Given the description of an element on the screen output the (x, y) to click on. 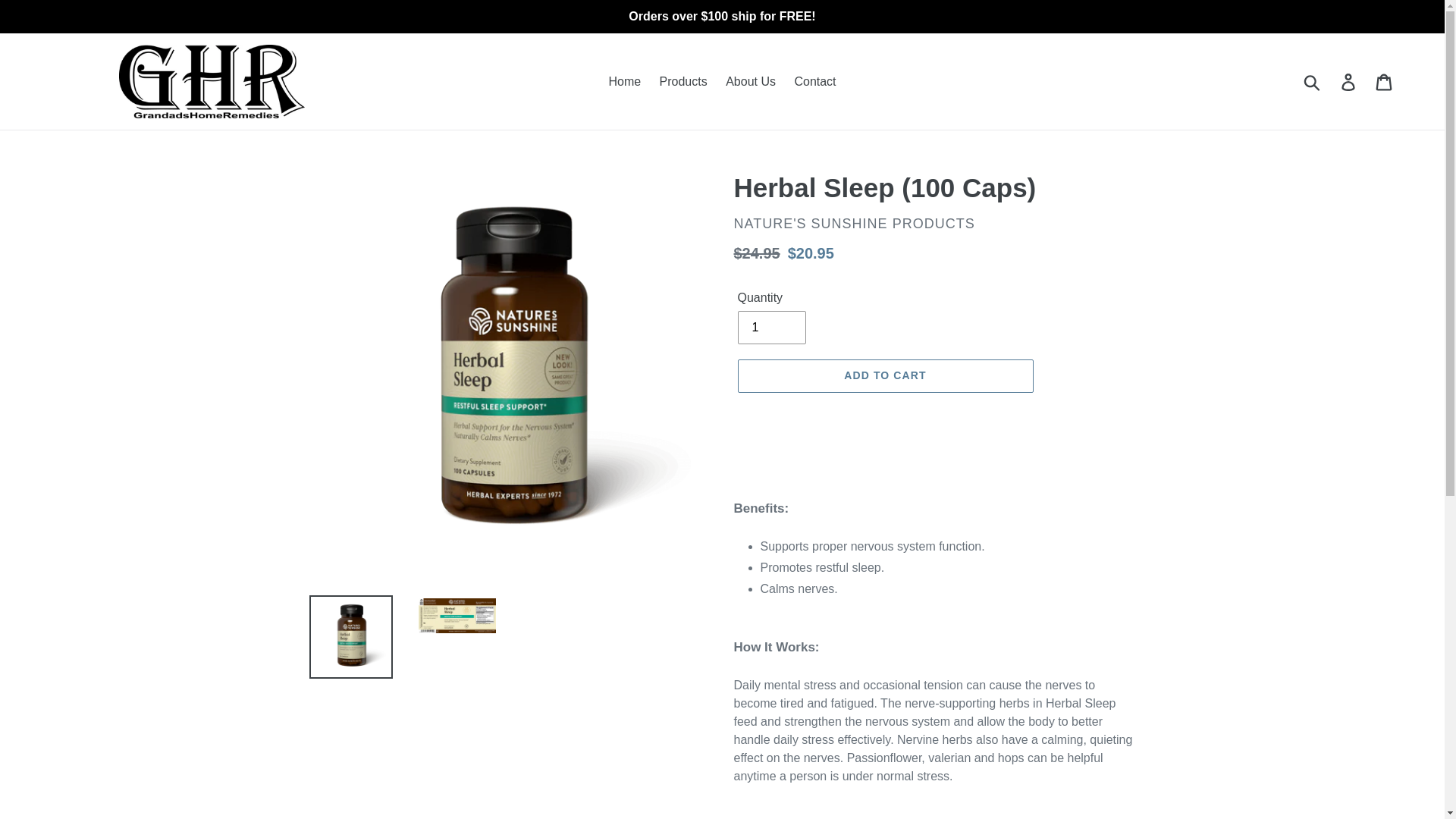
Cart (1385, 80)
Submit (1313, 80)
About Us (750, 80)
Home (623, 80)
Contact (814, 80)
1 (770, 327)
Products (683, 80)
ADD TO CART (884, 376)
Log in (1349, 80)
